Given the description of an element on the screen output the (x, y) to click on. 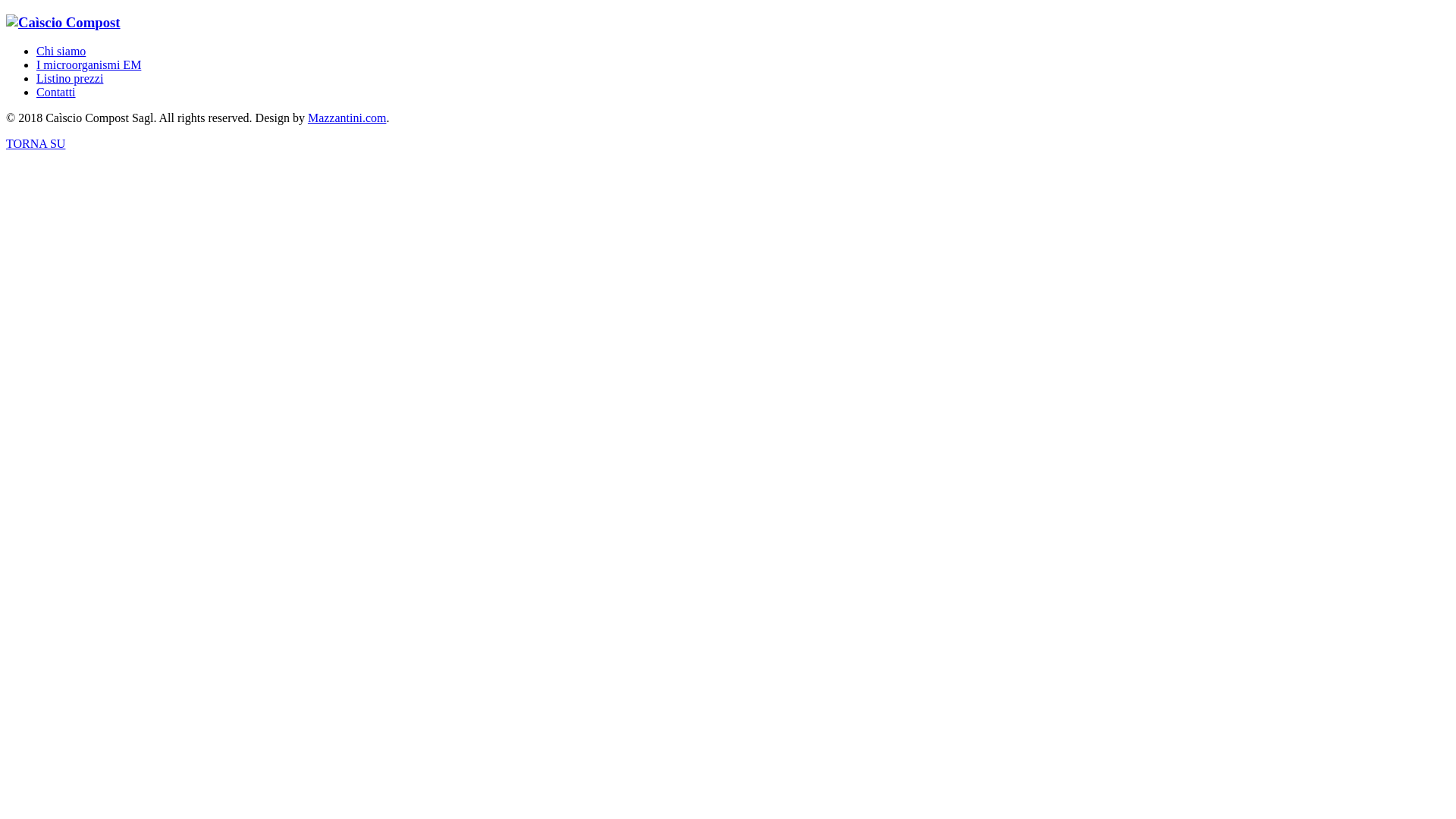
Listino prezzi Element type: text (69, 78)
Contatti Element type: text (55, 91)
TORNA SU Element type: text (35, 143)
Mazzantini.com Element type: text (346, 117)
I microorganismi EM Element type: text (88, 64)
Chi siamo Element type: text (60, 50)
